Given the description of an element on the screen output the (x, y) to click on. 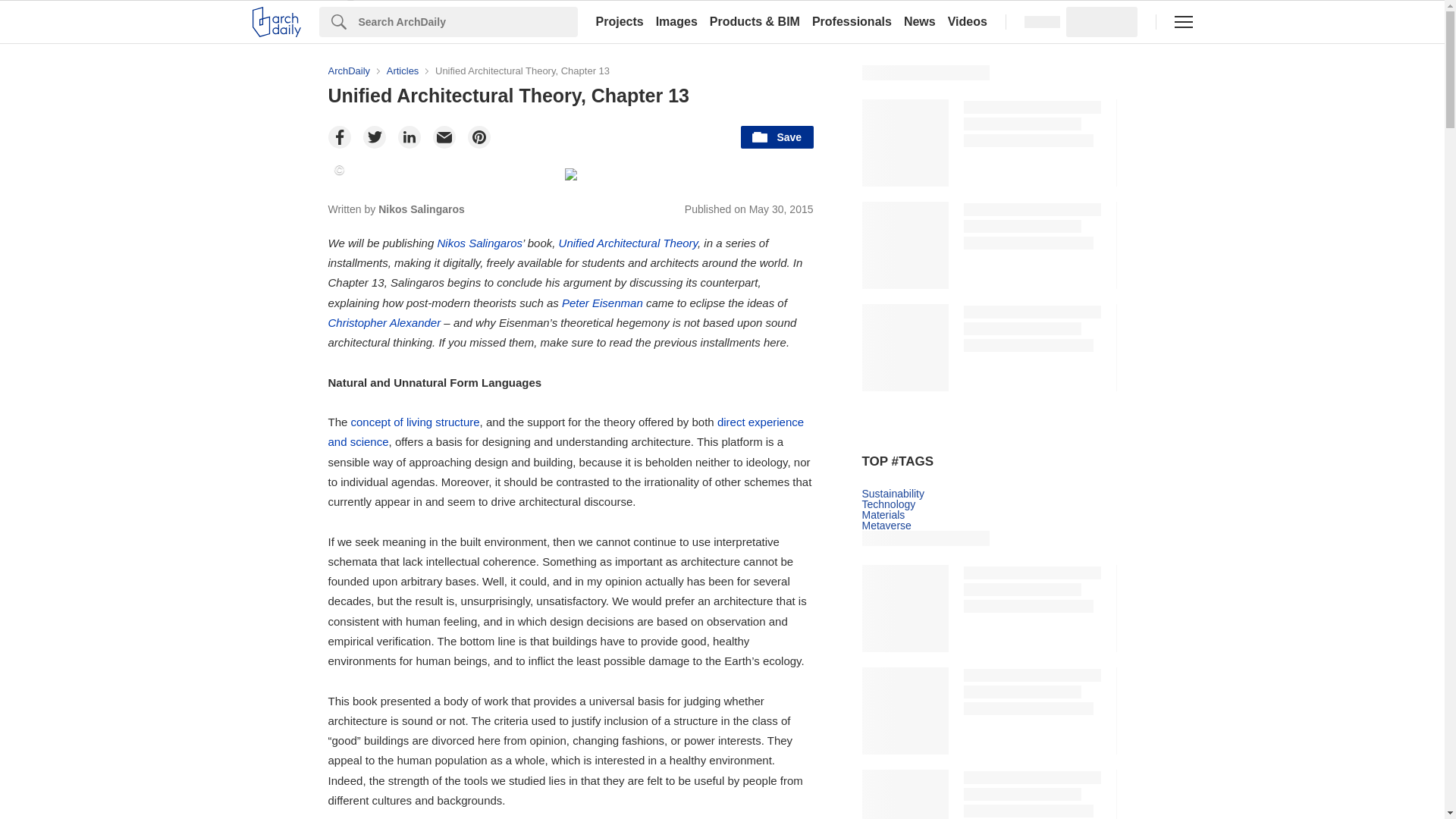
Projects (619, 21)
Professionals (852, 21)
Videos (967, 21)
Images (676, 21)
News (920, 21)
